Given the description of an element on the screen output the (x, y) to click on. 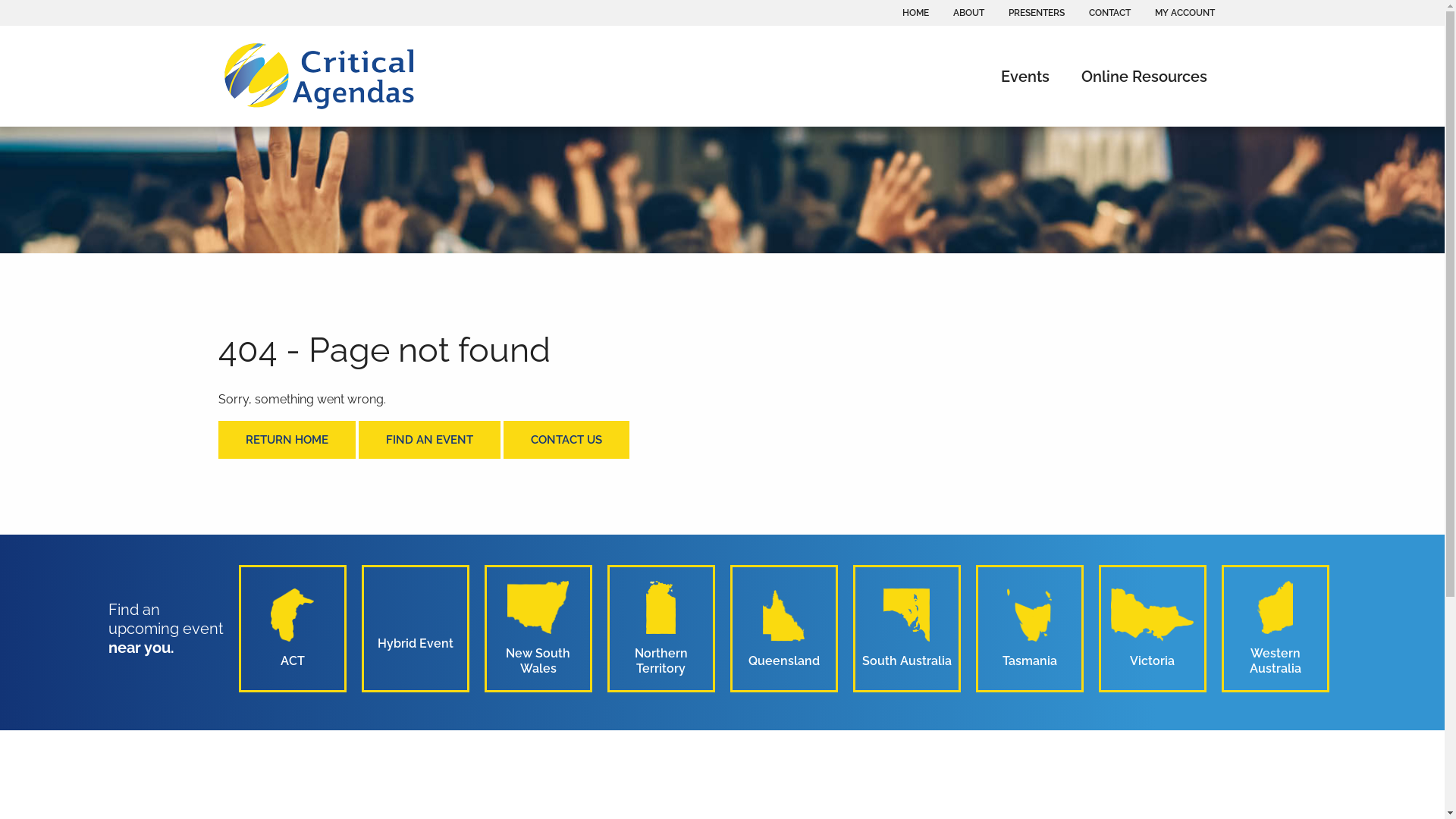
ABOUT Element type: text (967, 12)
New South Wales Element type: text (537, 628)
HOME Element type: text (915, 12)
Northern Territory Element type: text (660, 628)
Hybrid Event Element type: text (415, 628)
CONTACT Element type: text (1109, 12)
MY ACCOUNT Element type: text (1184, 12)
Victoria Element type: text (1152, 628)
Online Resources Element type: text (1143, 76)
Tasmania Element type: text (1029, 628)
South Australia Element type: text (906, 628)
Queensland Element type: text (783, 628)
RETURN HOME Element type: text (286, 439)
CONTACT US Element type: text (566, 439)
Western Australia Element type: text (1275, 628)
ACT Element type: text (292, 628)
PRESENTERS Element type: text (1036, 12)
FIND AN EVENT Element type: text (428, 439)
Events Element type: text (1027, 76)
